Given the description of an element on the screen output the (x, y) to click on. 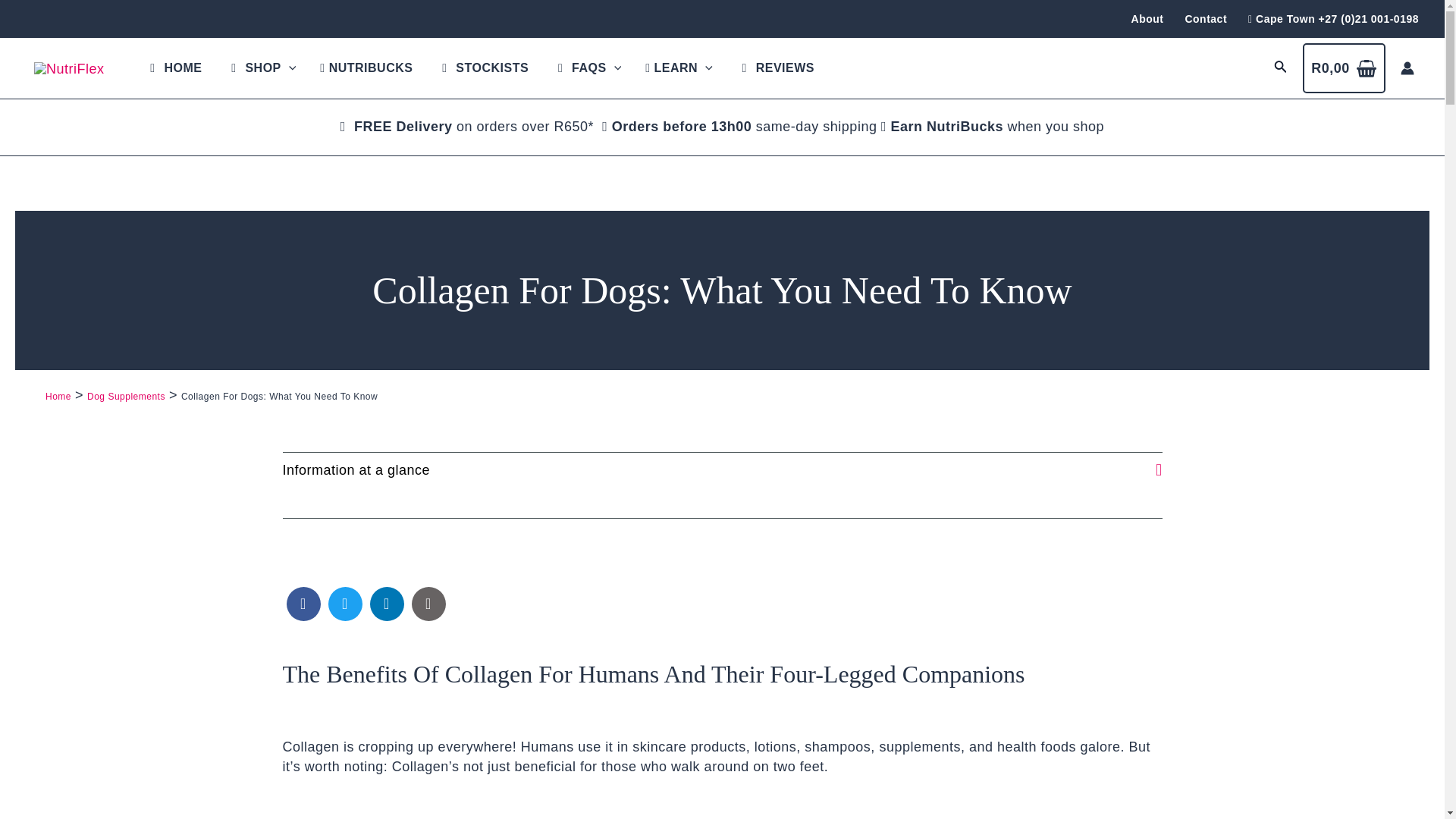
REVIEWS (776, 67)
NUTRIBUCKS (366, 67)
STOCKISTS (482, 67)
SHOP (260, 67)
About (1147, 18)
FAQS (586, 67)
Contact (1205, 18)
LEARN (679, 67)
HOME (173, 67)
